Given the description of an element on the screen output the (x, y) to click on. 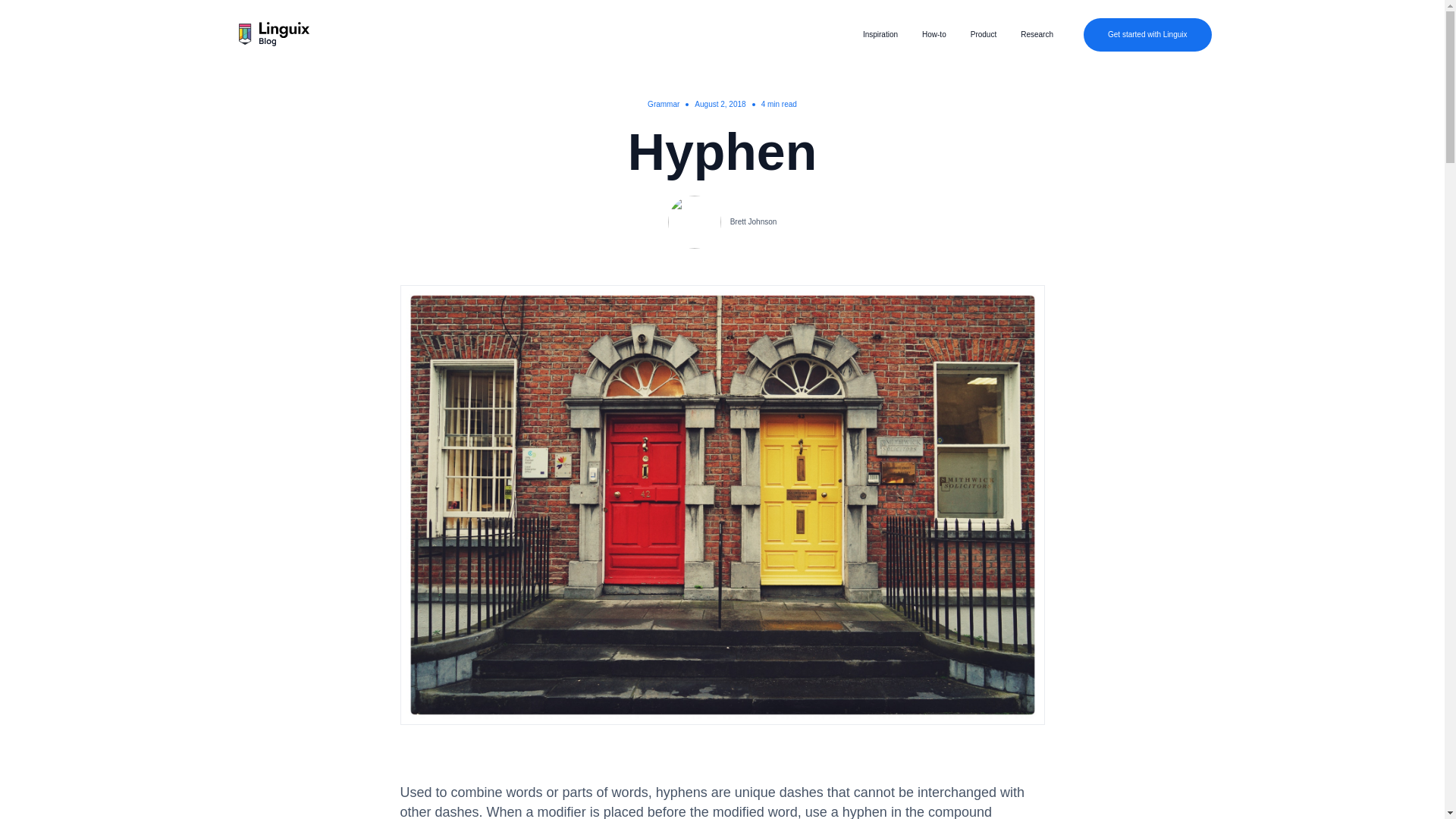
Product (983, 34)
Research (1036, 34)
Inspiration (880, 34)
How-to (933, 34)
Get started with Linguix (1147, 34)
Grammar (663, 103)
